Given the description of an element on the screen output the (x, y) to click on. 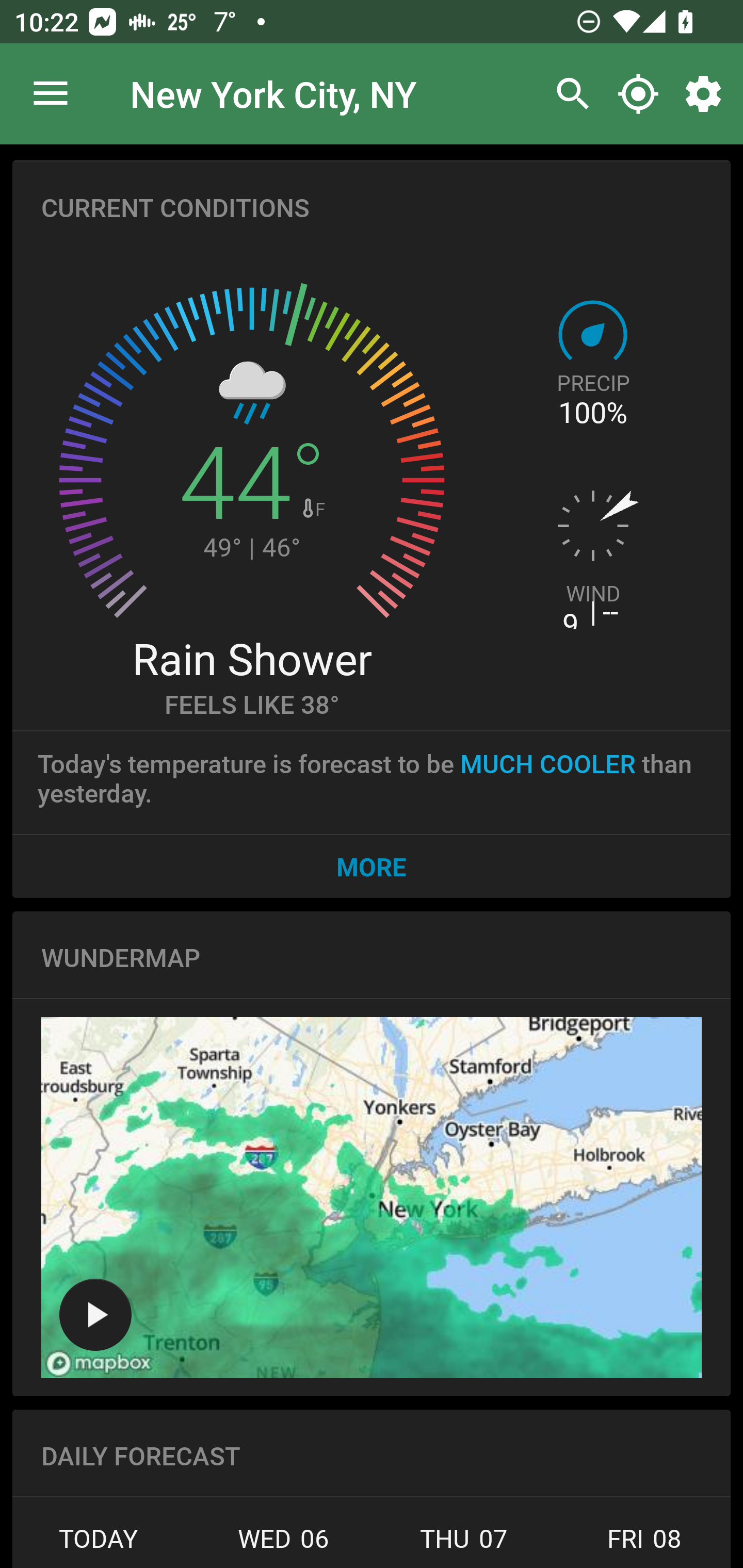
Press to open location manager. (50, 93)
Search for location (567, 94)
Select GPS location (637, 94)
Settings (706, 94)
New York City, NY (273, 92)
100% (592, 412)
Rain Shower (251, 657)
MORE (371, 865)
Weather Map (371, 1197)
Weather Map (95, 1314)
TODAY (102, 1544)
WED 06 (283, 1544)
THU 07 (463, 1544)
FRI 08 (642, 1544)
